Given the description of an element on the screen output the (x, y) to click on. 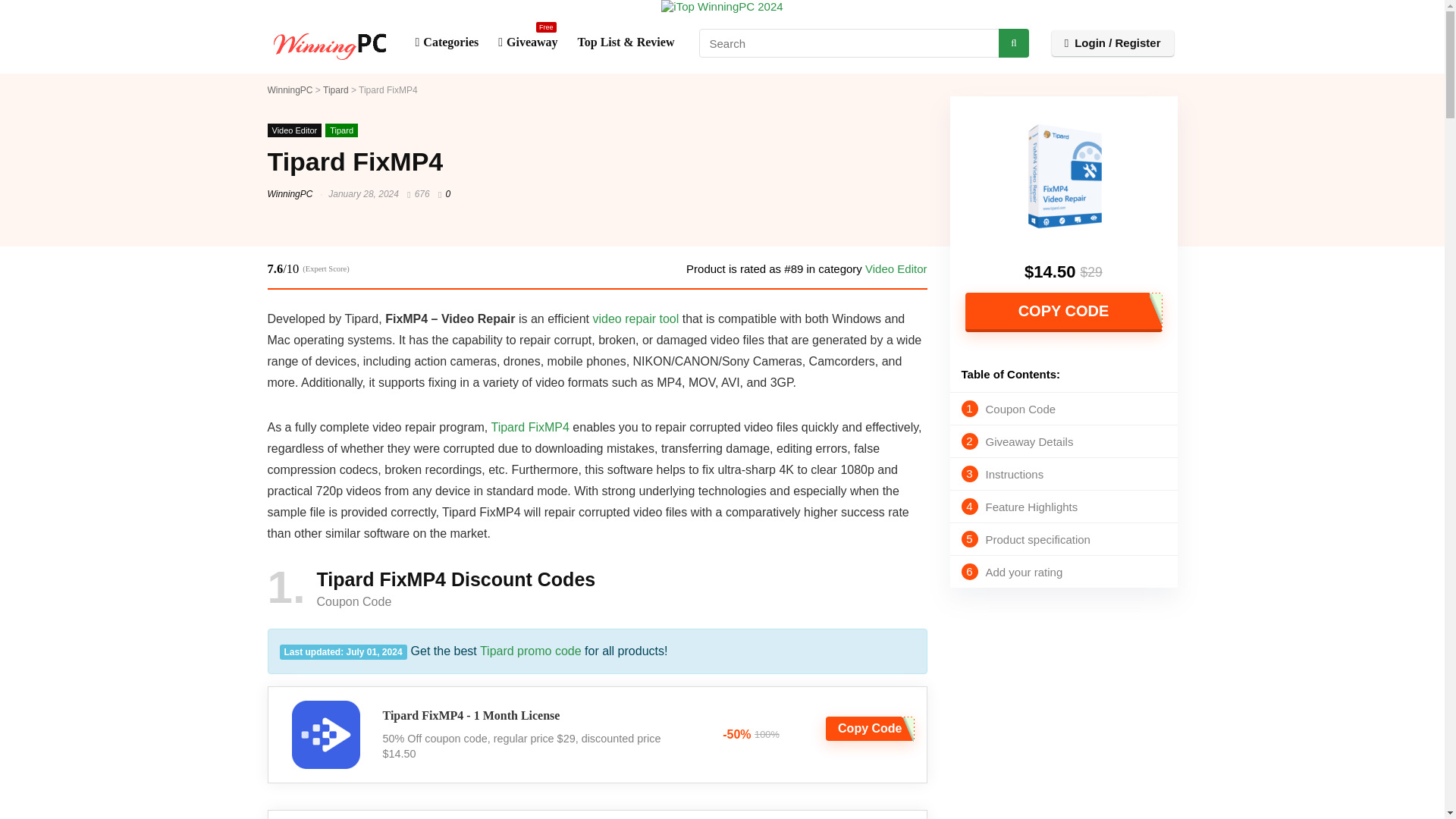
video repair tool (635, 318)
Tipard (336, 90)
Tipard (1059, 474)
WinningPC (1059, 441)
Software Giveaway Everyday (341, 130)
Tipard FixMP4 (289, 90)
View all posts in Tipard (1059, 506)
Video Editor (1059, 408)
Tipard promo code (1059, 571)
Tipard Fixmp4 Coupon Code (527, 42)
